Given the description of an element on the screen output the (x, y) to click on. 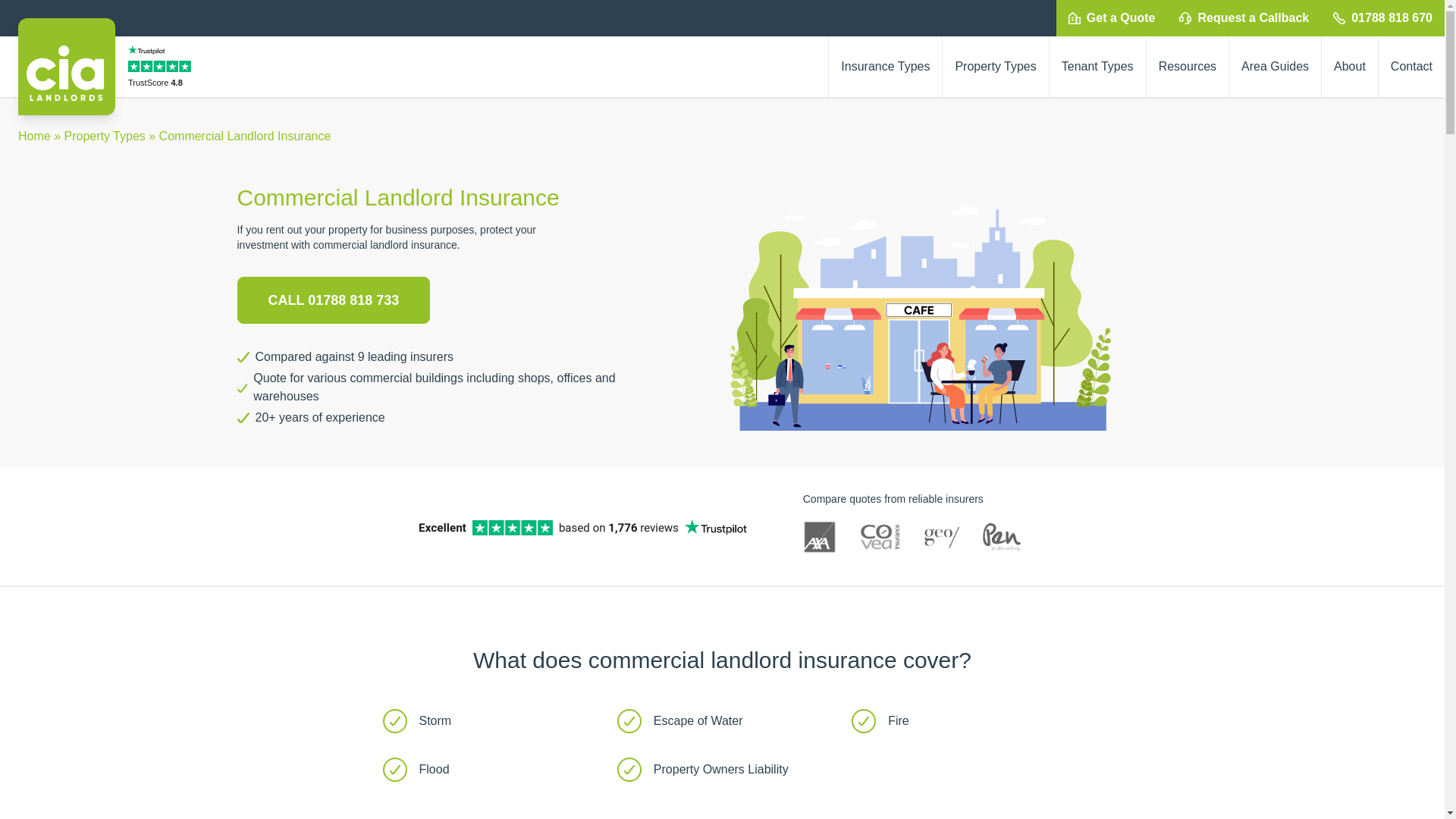
Area Guides (1274, 66)
Customer reviews powered by Trustpilot (161, 66)
Property Types (104, 135)
Request a Callback (1243, 18)
Property Types (995, 66)
Tenant Types (1097, 66)
Insurance Types (885, 66)
Resources (1187, 66)
CALL 01788 818 733 (332, 299)
About (1349, 66)
Get a Quote (1112, 18)
Home (33, 135)
